Given the description of an element on the screen output the (x, y) to click on. 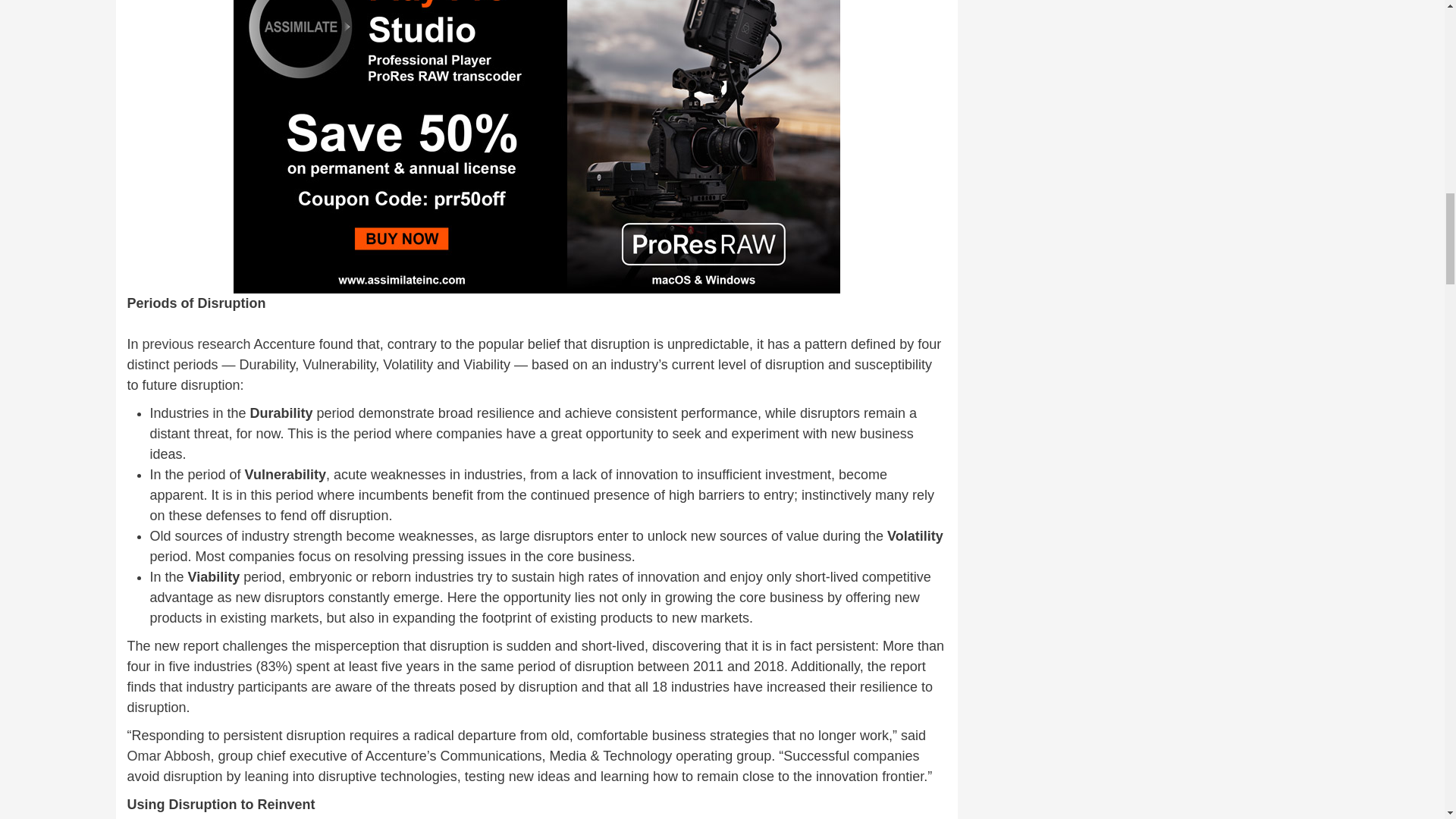
previous research (196, 344)
Omar Abbosh (169, 755)
